Given the description of an element on the screen output the (x, y) to click on. 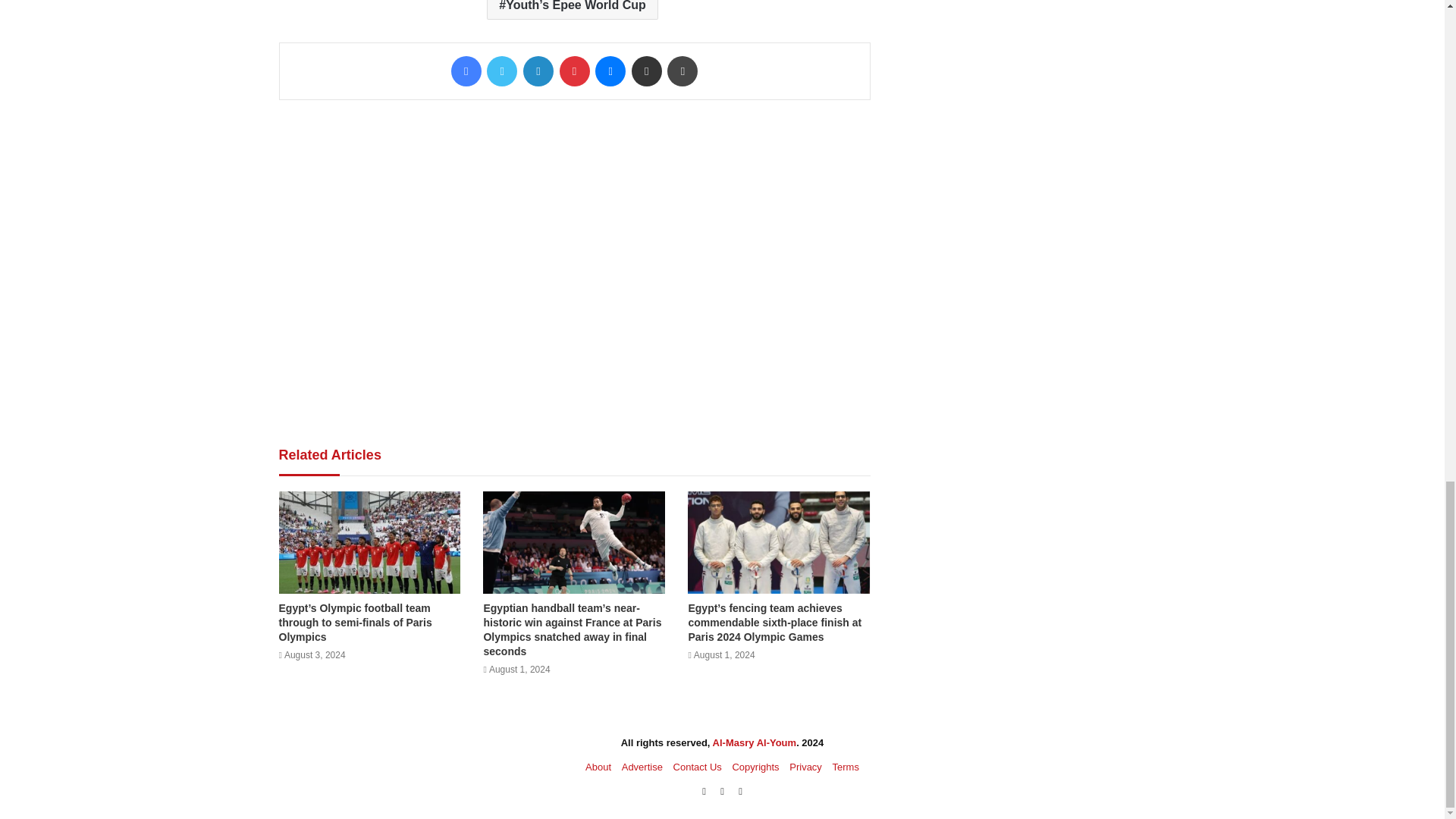
Twitter (501, 71)
Messenger (610, 71)
Twitter (501, 71)
LinkedIn (537, 71)
Facebook (466, 71)
Facebook (466, 71)
LinkedIn (537, 71)
Pinterest (574, 71)
